Given the description of an element on the screen output the (x, y) to click on. 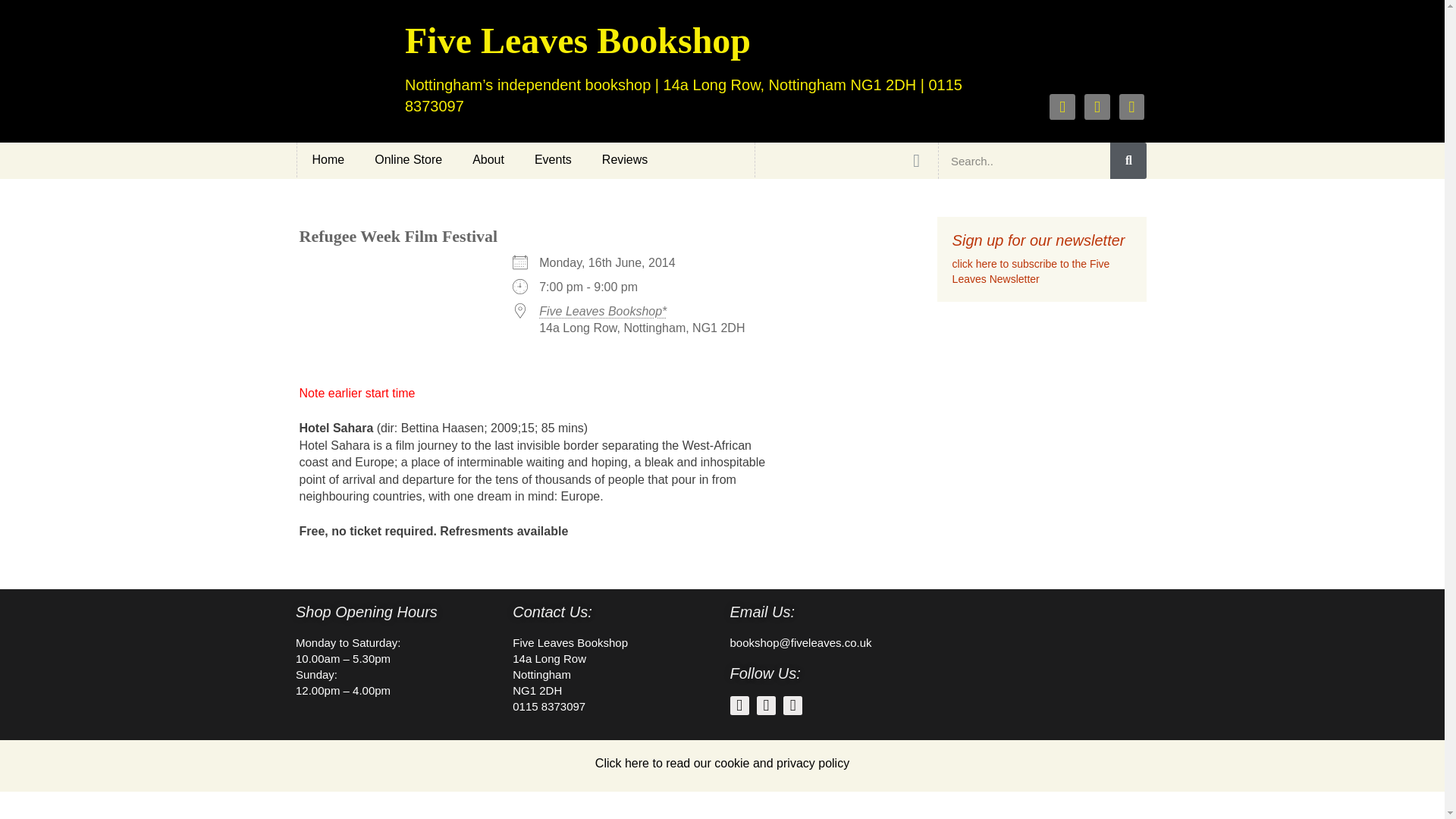
Online Store (408, 159)
click here to subscribe to the Five Leaves Newsletter (1030, 271)
Home (328, 159)
Click here to read our cookie and privacy policy (721, 762)
Search (1024, 160)
Events (552, 159)
logo-cropped (347, 71)
Reviews (624, 159)
Five Leaves Bookshop (577, 40)
Sign up for our newsletter (1038, 239)
